Given the description of an element on the screen output the (x, y) to click on. 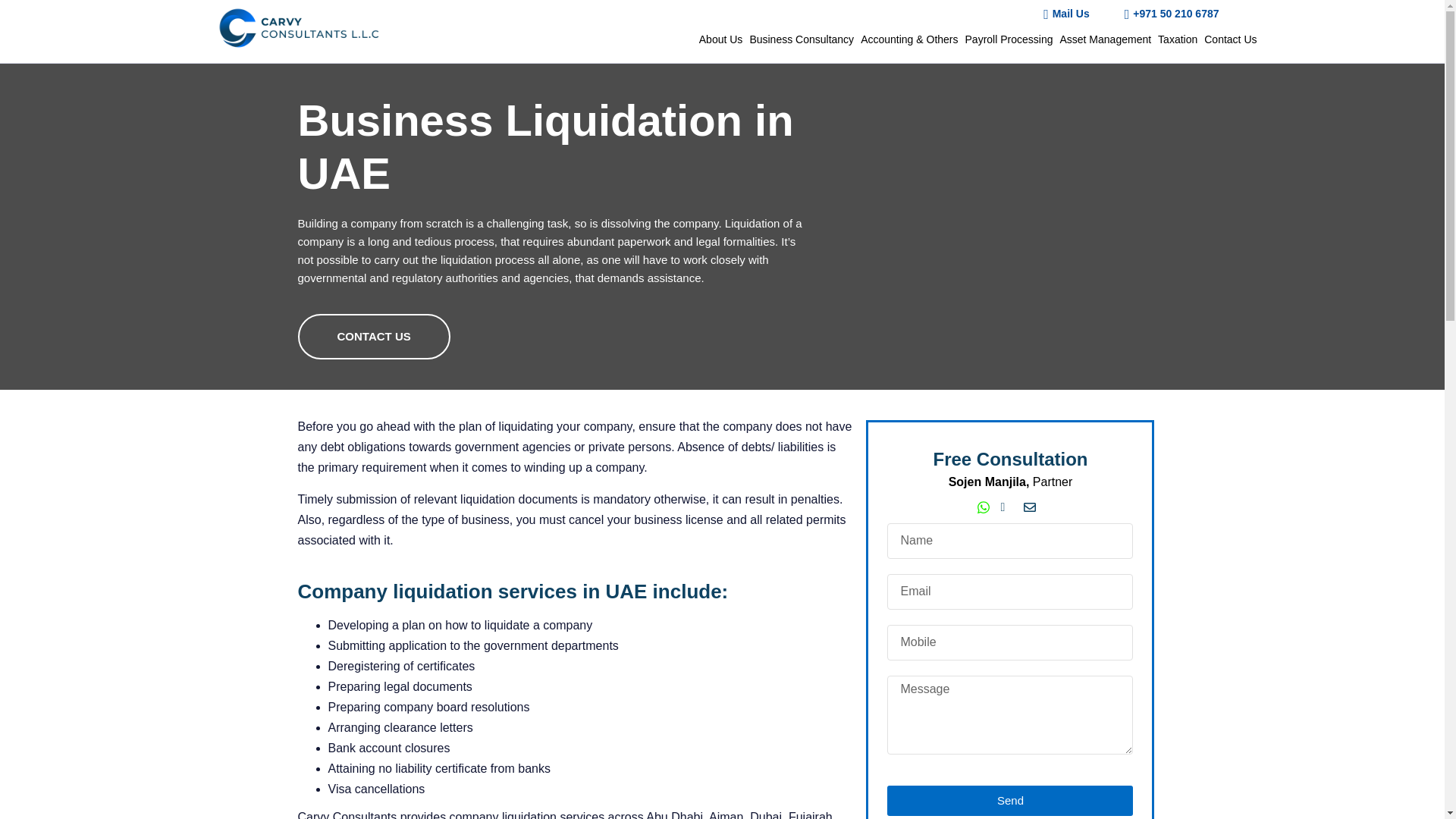
Business Consultancy (801, 39)
Mail Us (1059, 13)
Payroll Processing (1008, 39)
About Us (720, 39)
